Given the description of an element on the screen output the (x, y) to click on. 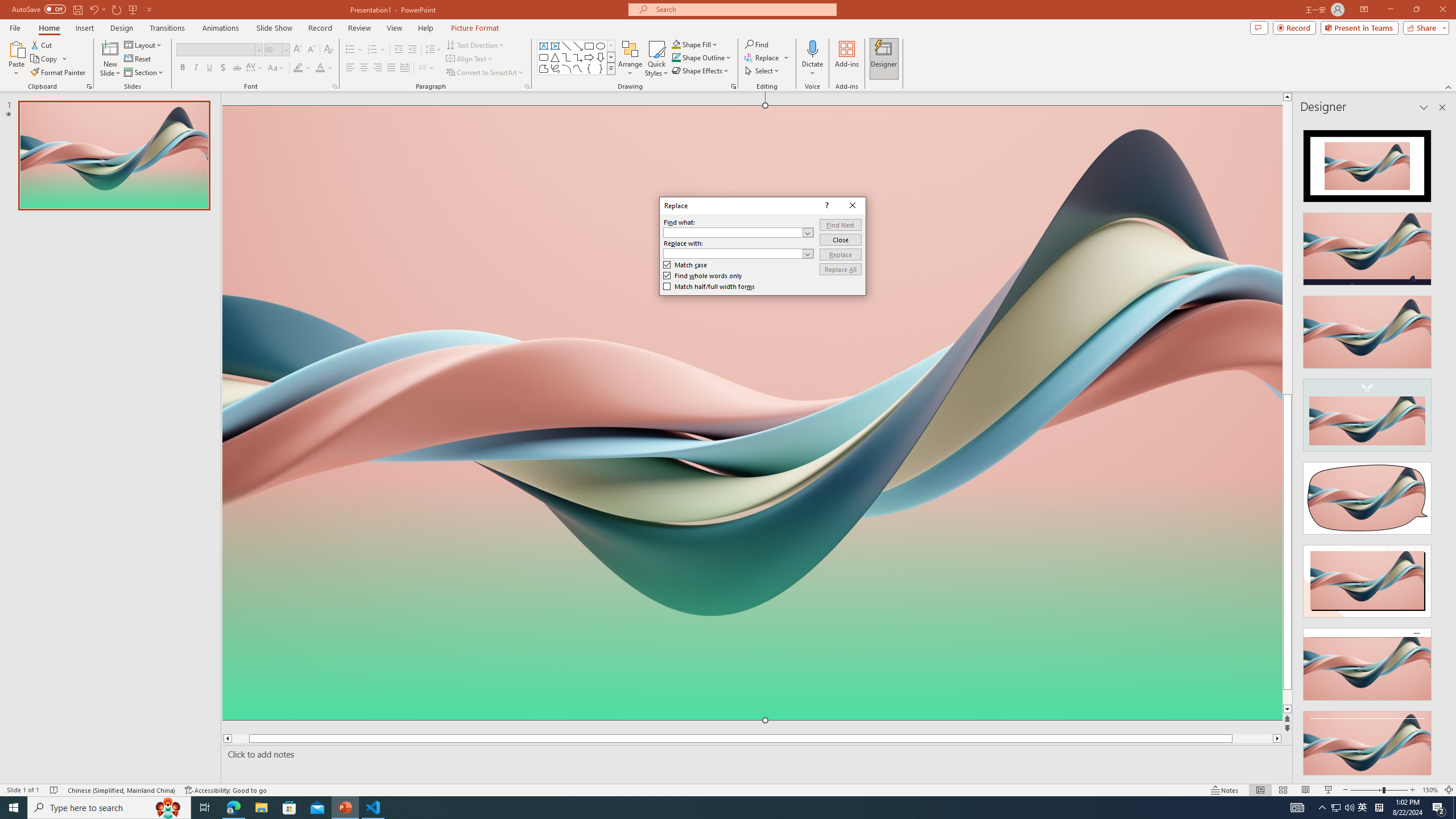
Find Next (839, 224)
Replace All (839, 269)
